Given the description of an element on the screen output the (x, y) to click on. 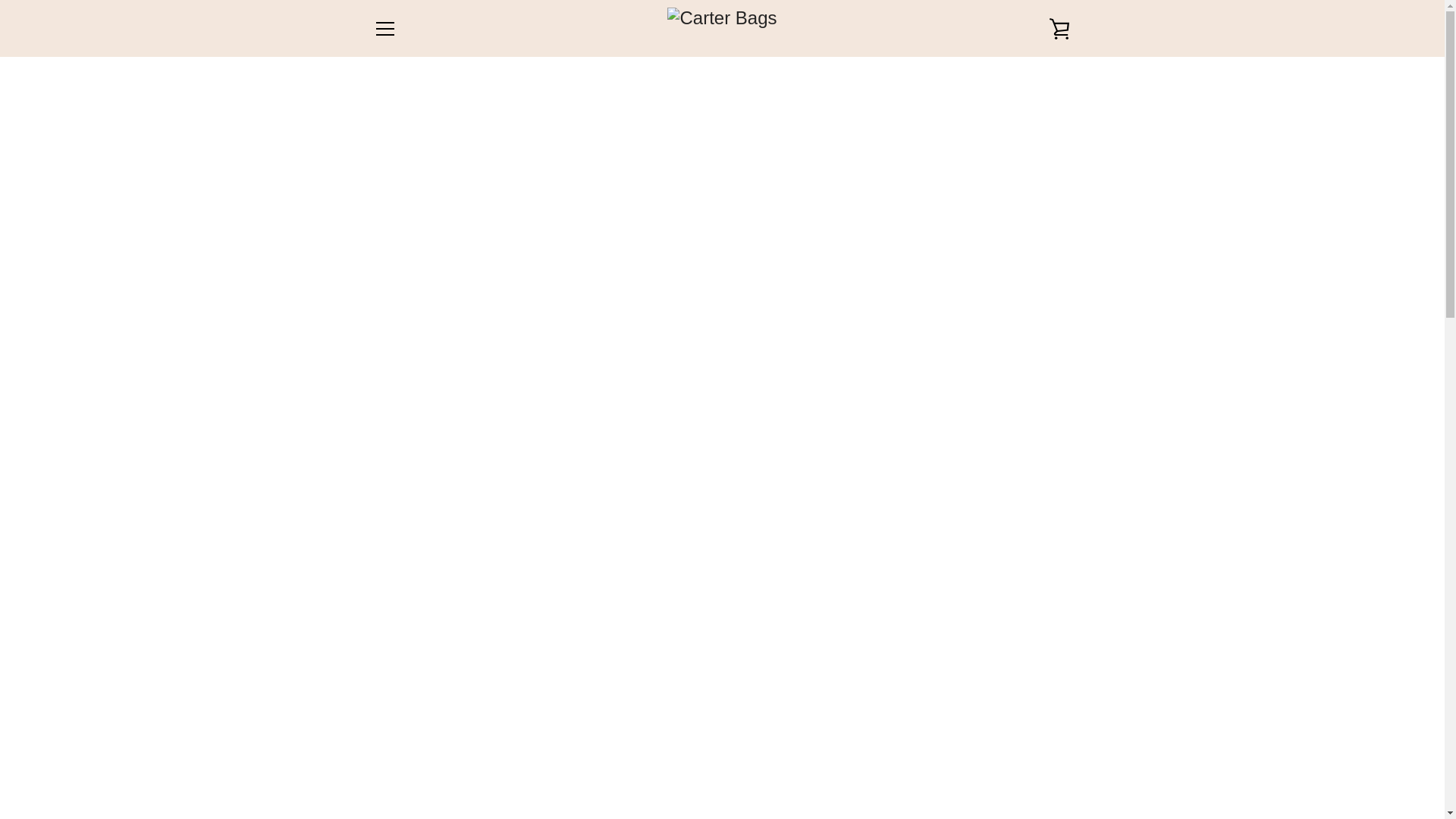
MENU (384, 27)
VIEW CART (1059, 27)
